Given the description of an element on the screen output the (x, y) to click on. 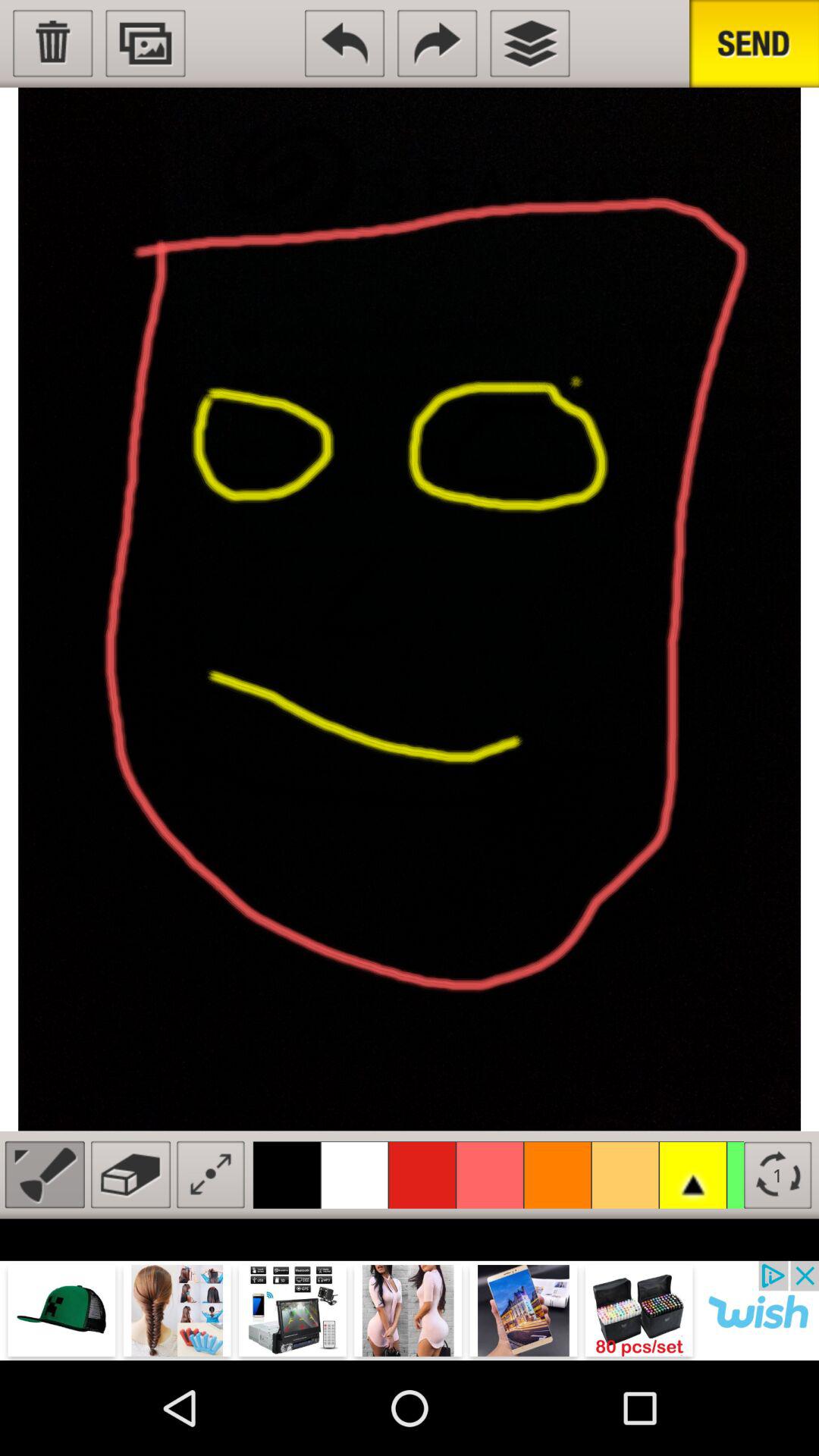
use paintbrush (44, 1174)
